Given the description of an element on the screen output the (x, y) to click on. 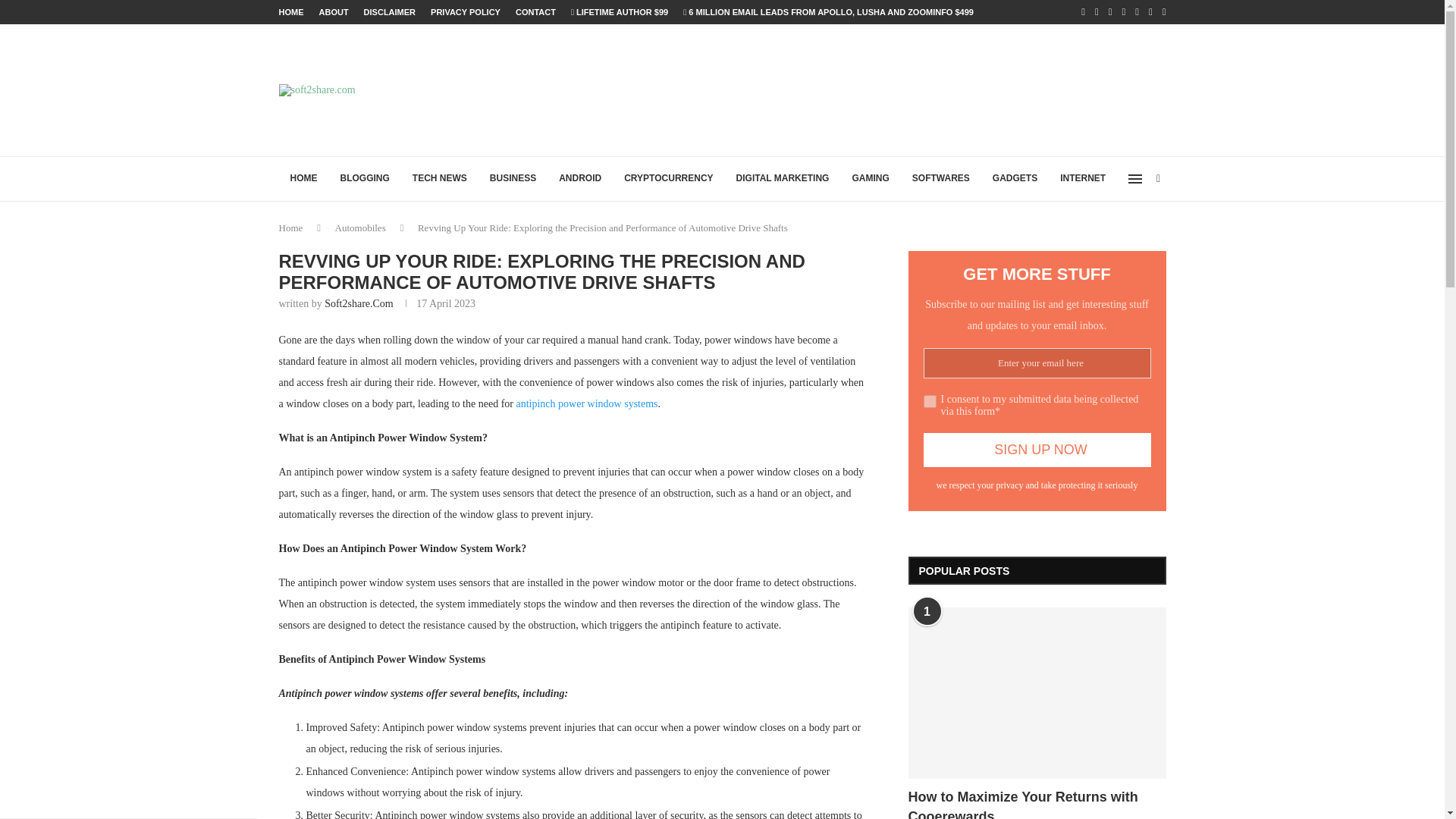
GAMING (869, 178)
GADGETS (1014, 178)
ANDROID (579, 178)
HOME (291, 12)
BUSINESS (513, 178)
on (929, 400)
DIGITAL MARKETING (783, 178)
Soft2share.Com (358, 303)
BLOGGING (365, 178)
How to Maximize Your Returns with Cooerewards (1037, 803)
